Given the description of an element on the screen output the (x, y) to click on. 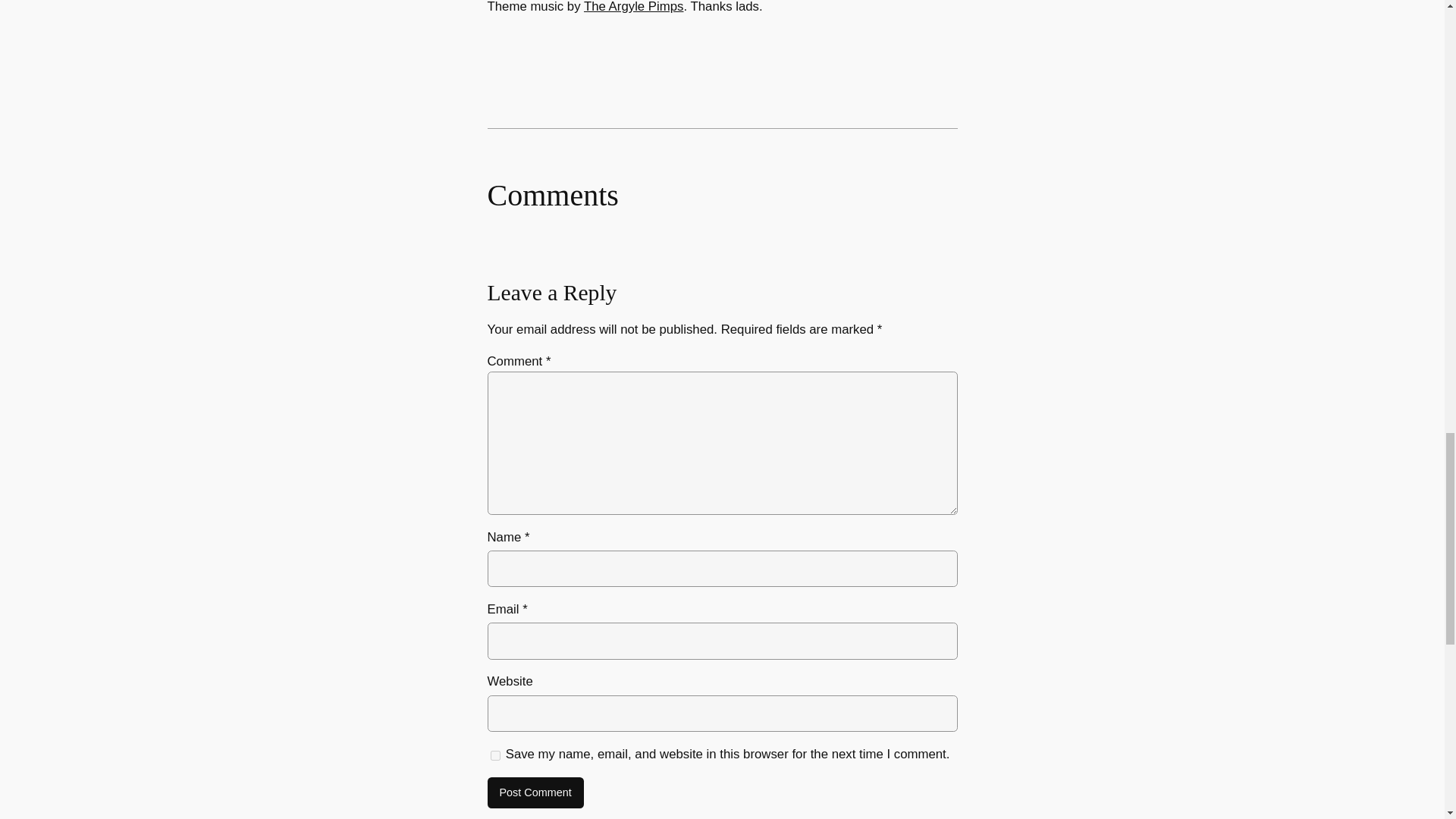
The Argyle Pimps (633, 6)
Post Comment (534, 793)
Post Comment (534, 793)
